Given the description of an element on the screen output the (x, y) to click on. 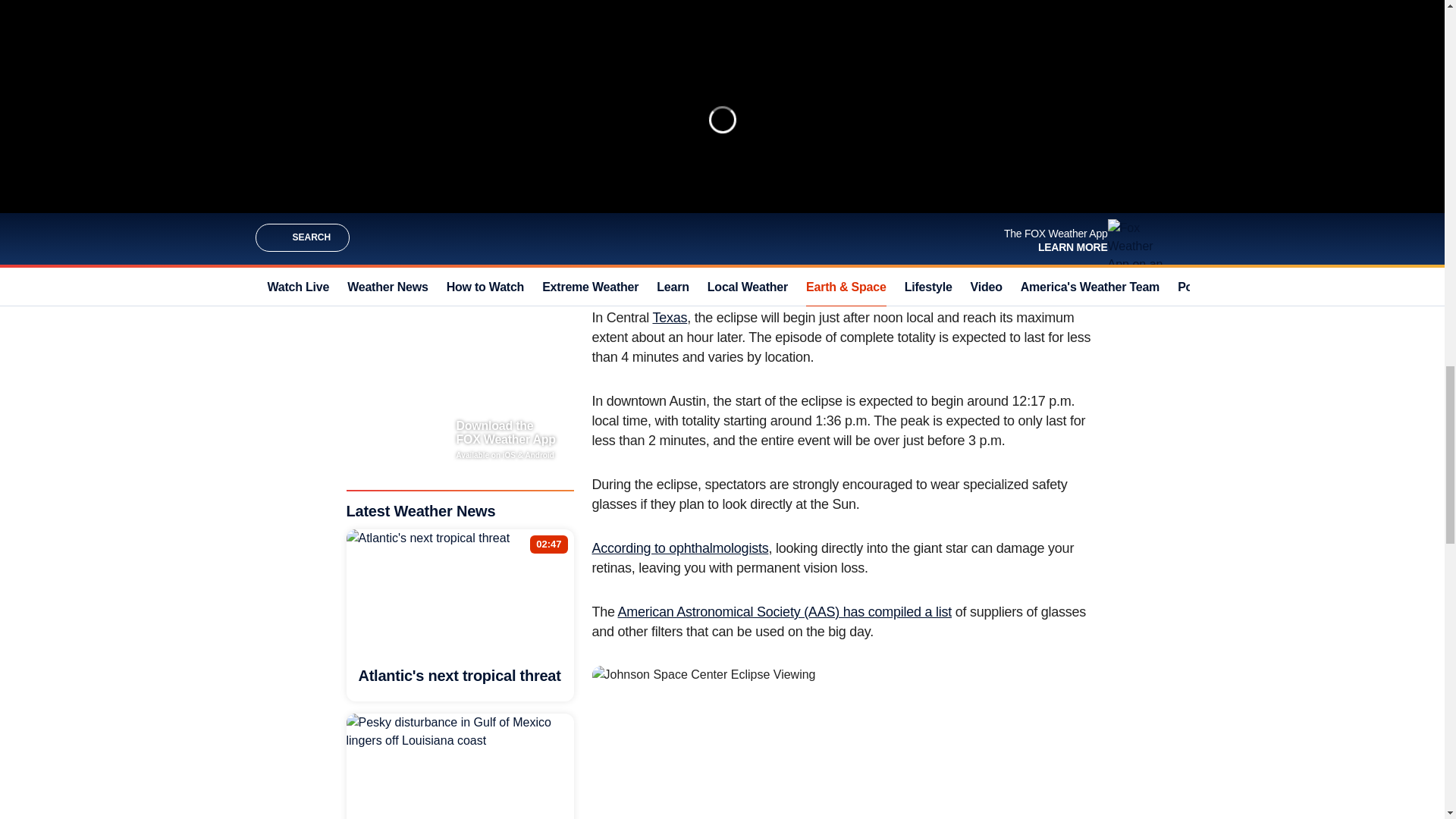
According to ophthalmologists (679, 548)
Texas (669, 317)
Indianapolis (664, 273)
